Given the description of an element on the screen output the (x, y) to click on. 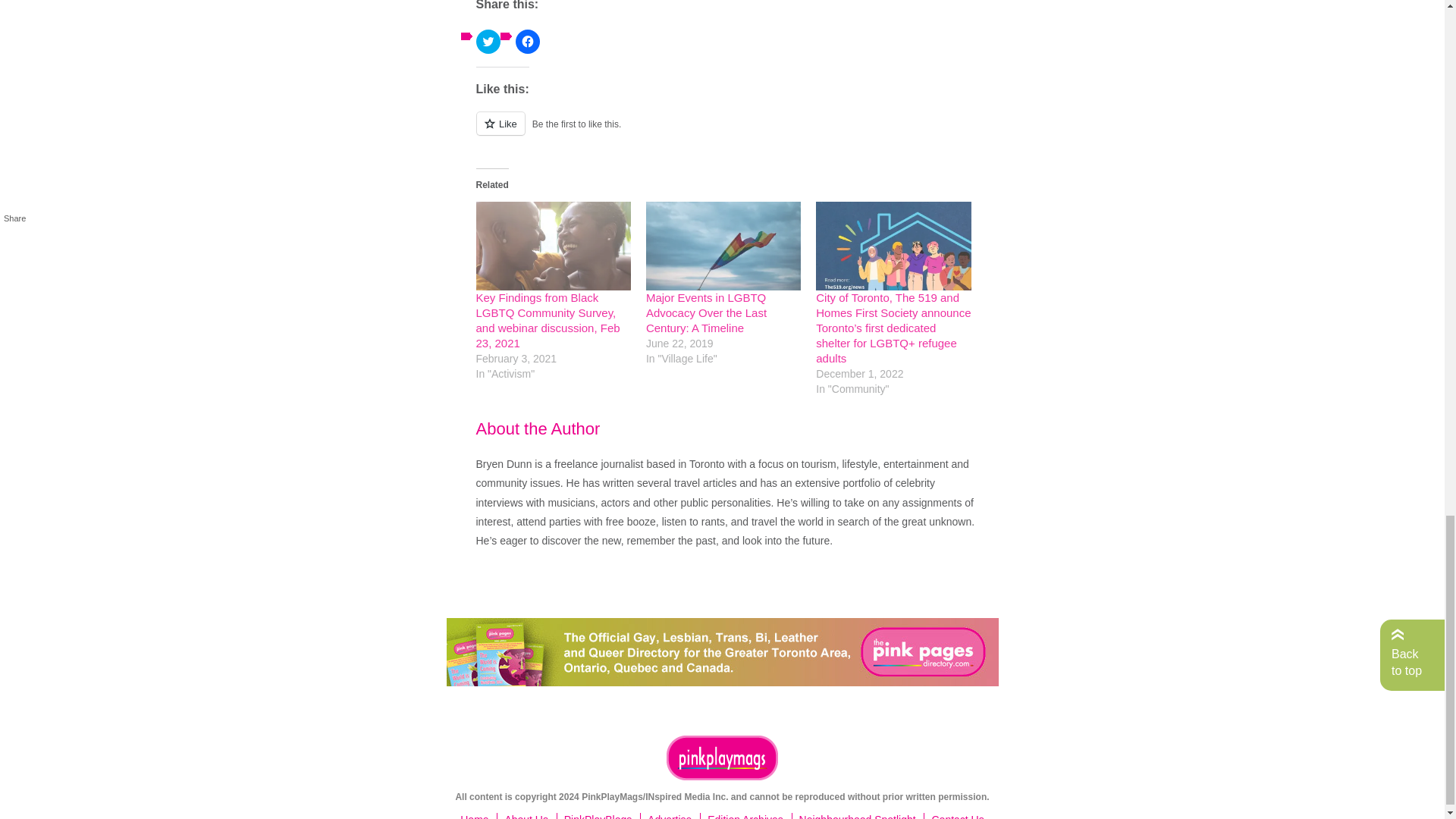
Click to share on Facebook (527, 41)
Like or Reblog (726, 132)
Click to share on Twitter (488, 41)
